Given the description of an element on the screen output the (x, y) to click on. 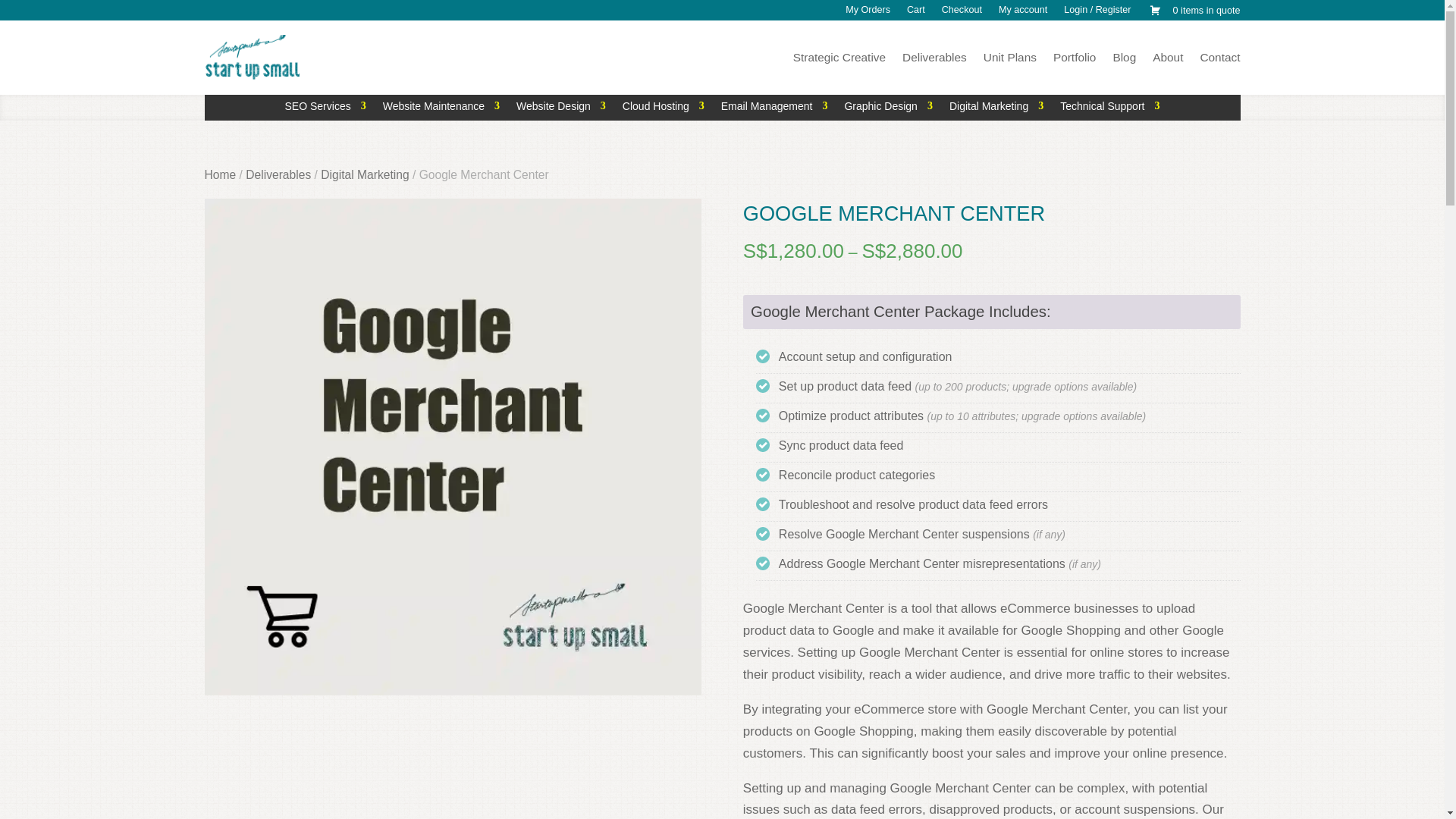
Checkout (961, 15)
My account (1022, 15)
Deliverables (934, 60)
Cart (915, 15)
Strategic Creative (839, 60)
0 items in quote (1194, 13)
Website Maintenance (440, 108)
SEO Services (325, 108)
About (1167, 60)
Contact (1219, 60)
My Orders (867, 15)
View Quote (1194, 13)
Portfolio (1074, 60)
Blog (1123, 60)
Unit Plans (1010, 60)
